Given the description of an element on the screen output the (x, y) to click on. 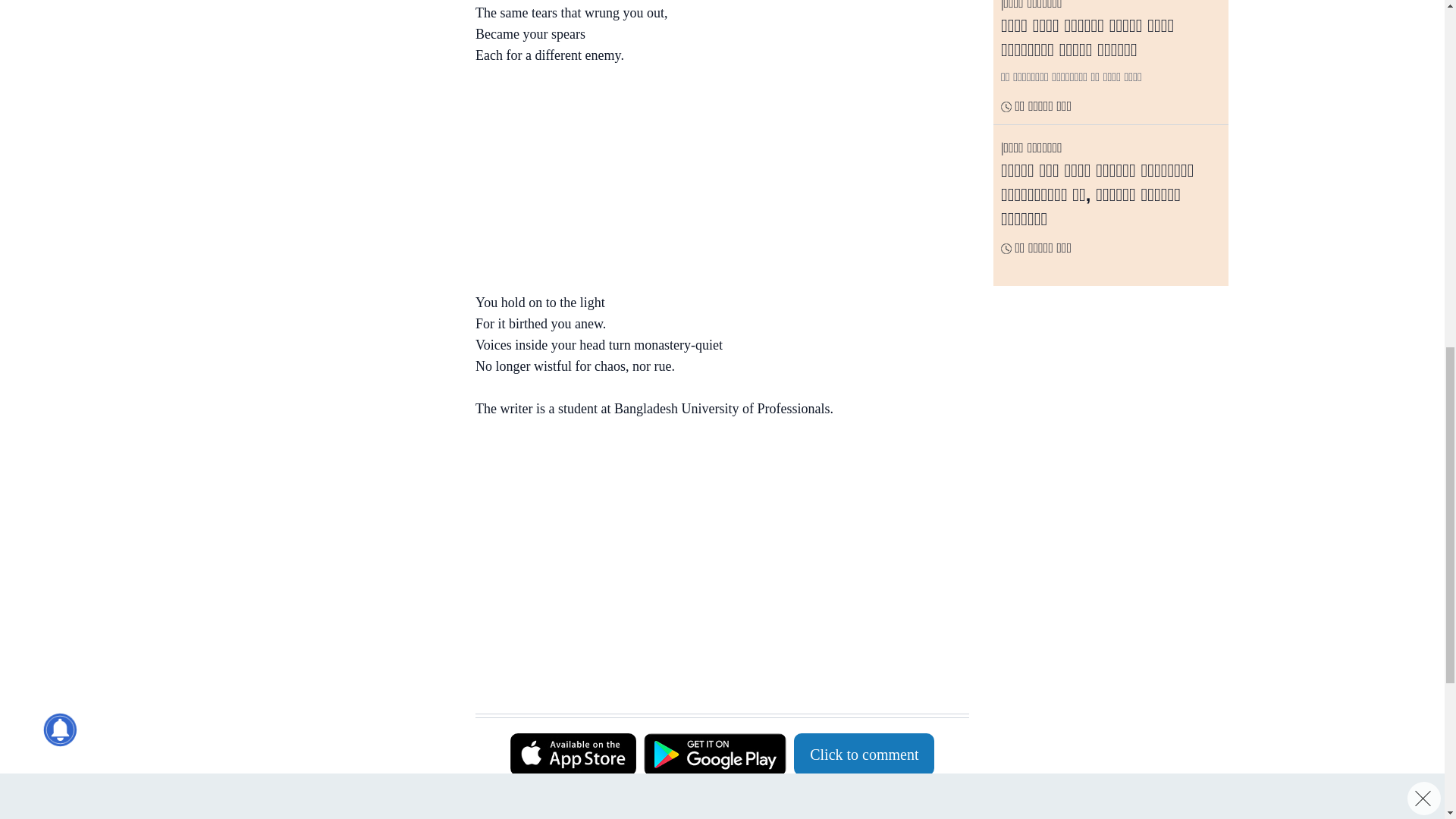
3rd party ad content (713, 181)
3rd party ad content (714, 675)
3rd party ad content (332, 159)
3rd party ad content (332, 24)
3rd party ad content (713, 534)
